Given the description of an element on the screen output the (x, y) to click on. 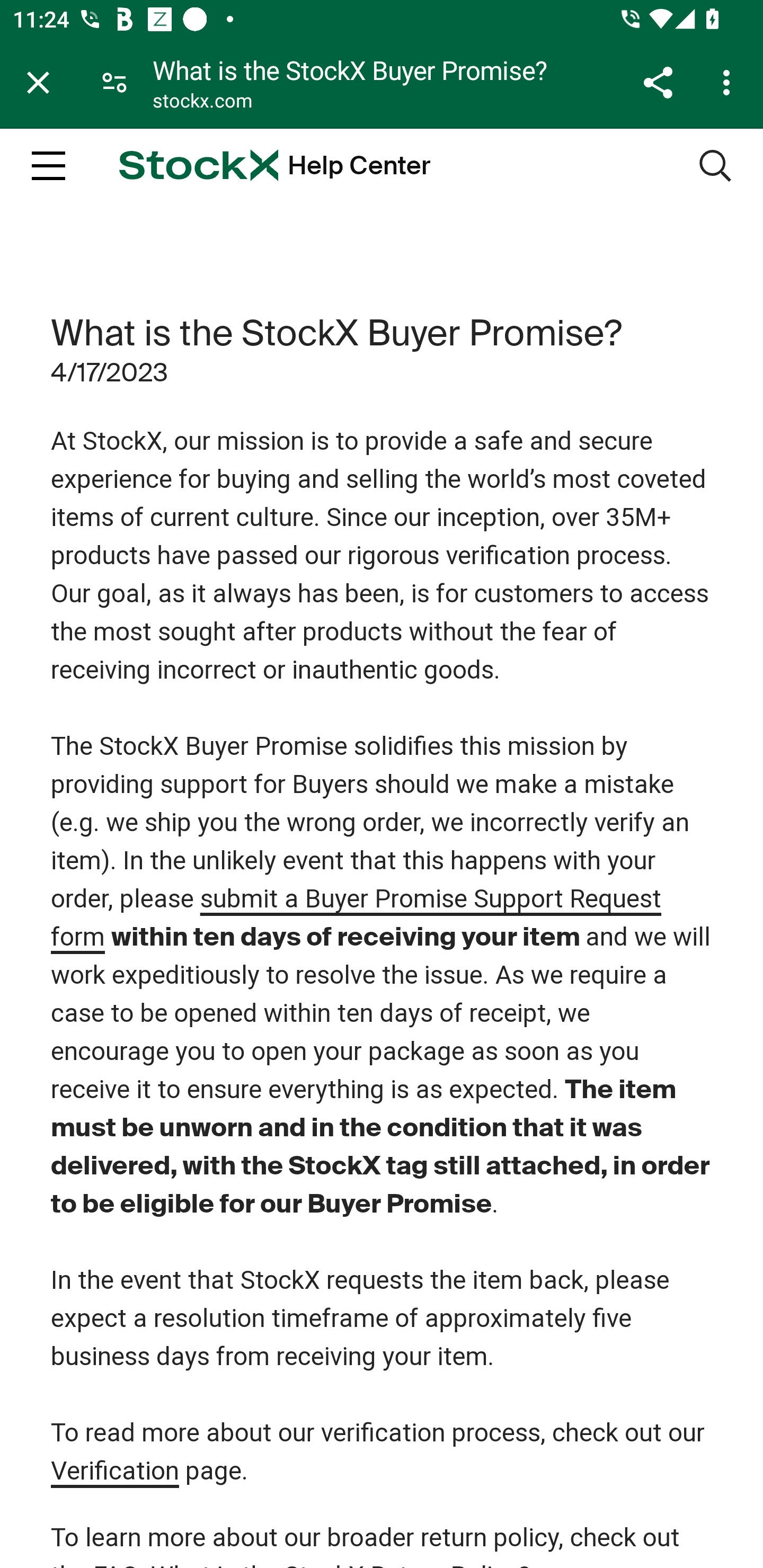
Close tab (38, 82)
Share (657, 82)
Customize and control Google Chrome (729, 82)
Connection is secure (114, 81)
stockx.com (202, 103)
opens in a new tab StockX Logo (198, 165)
Help Center (359, 165)
submit a Buyer Promise Support Request form (357, 918)
Verification (115, 1471)
